Given the description of an element on the screen output the (x, y) to click on. 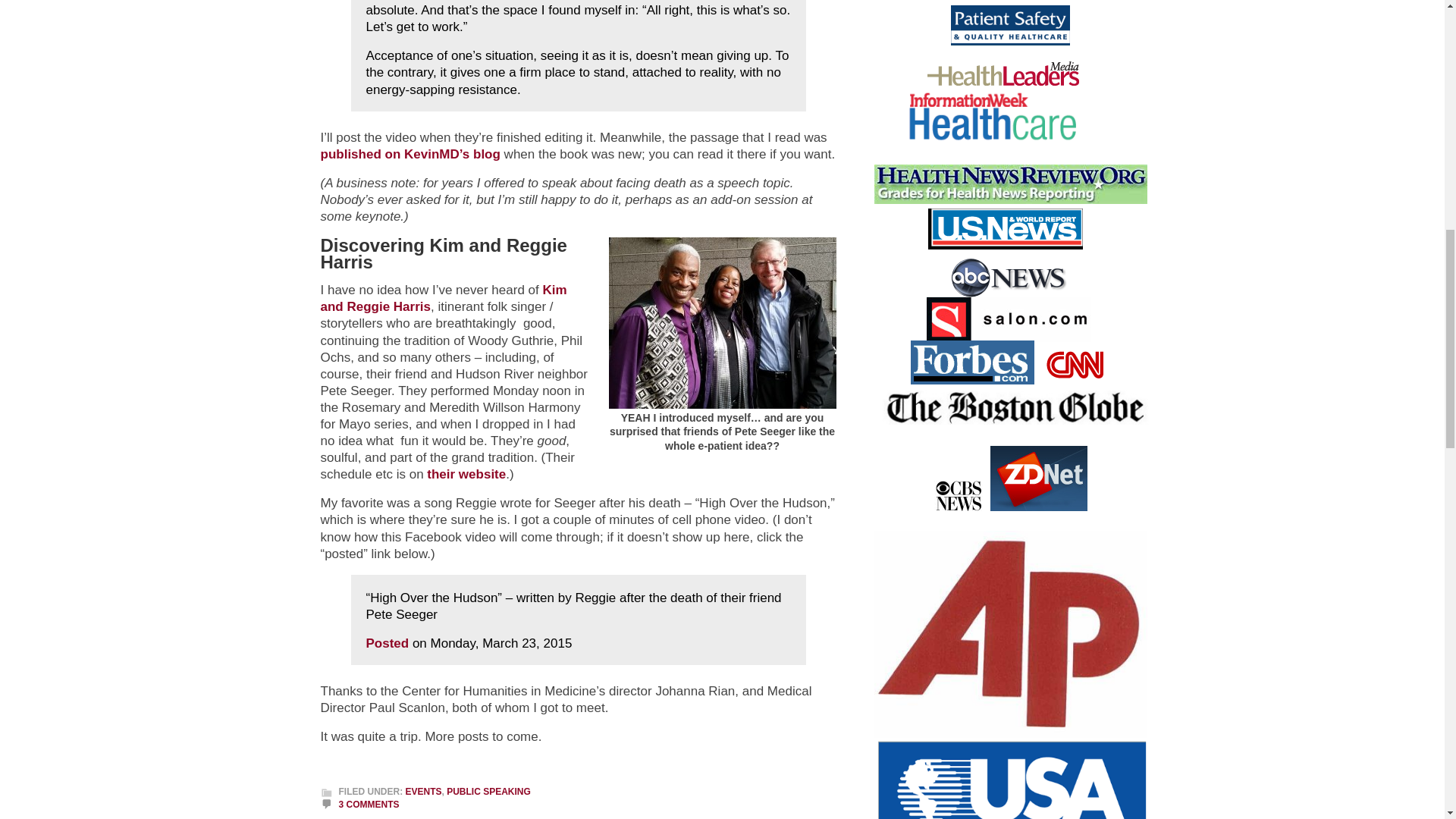
Kim and Reggie Harris (443, 297)
